Given the description of an element on the screen output the (x, y) to click on. 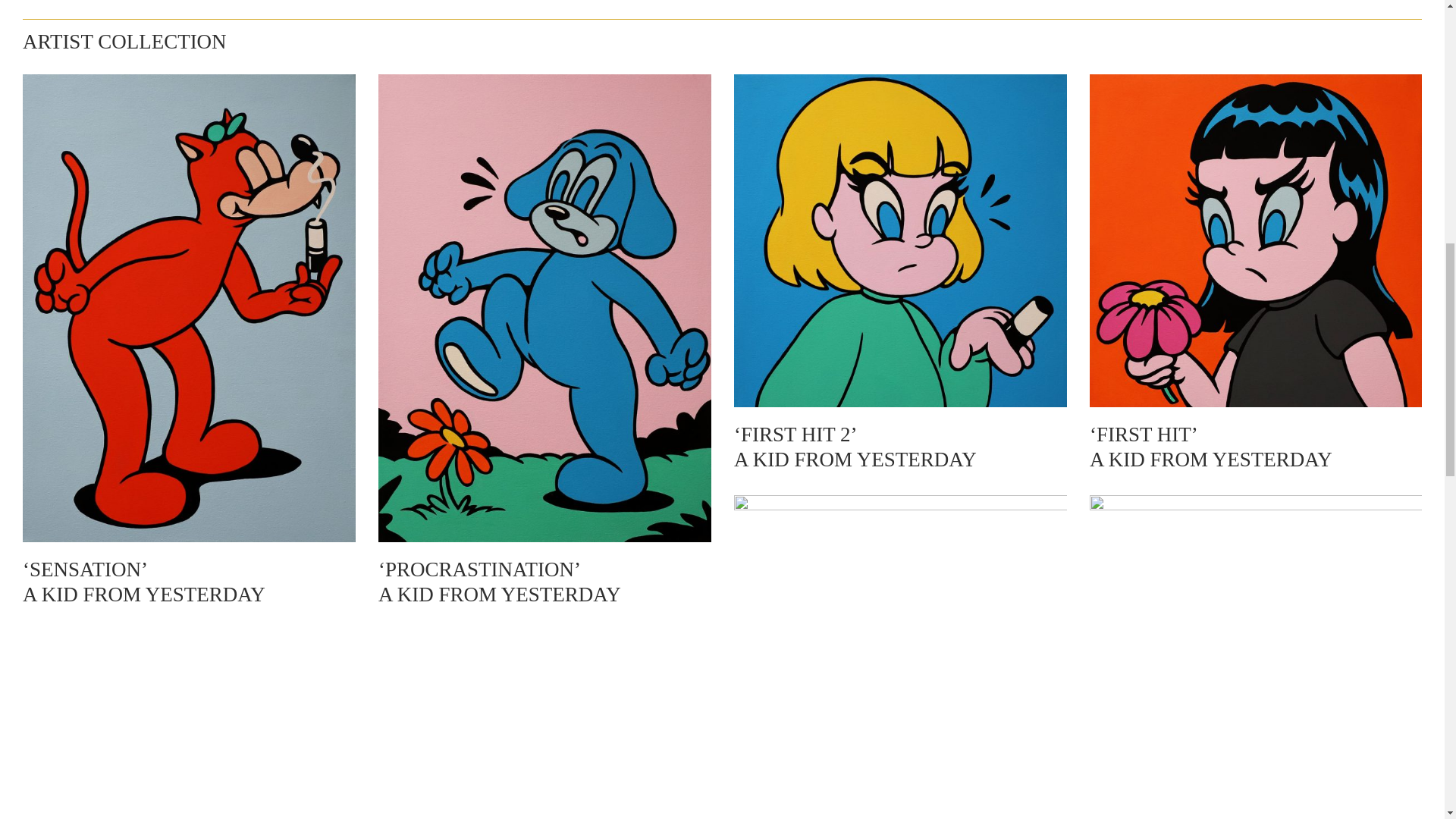
A KID FROM YESTERDAY (1210, 458)
A KID FROM YESTERDAY (499, 594)
A KID FROM YESTERDAY (854, 458)
A KID FROM YESTERDAY (143, 594)
